Given the description of an element on the screen output the (x, y) to click on. 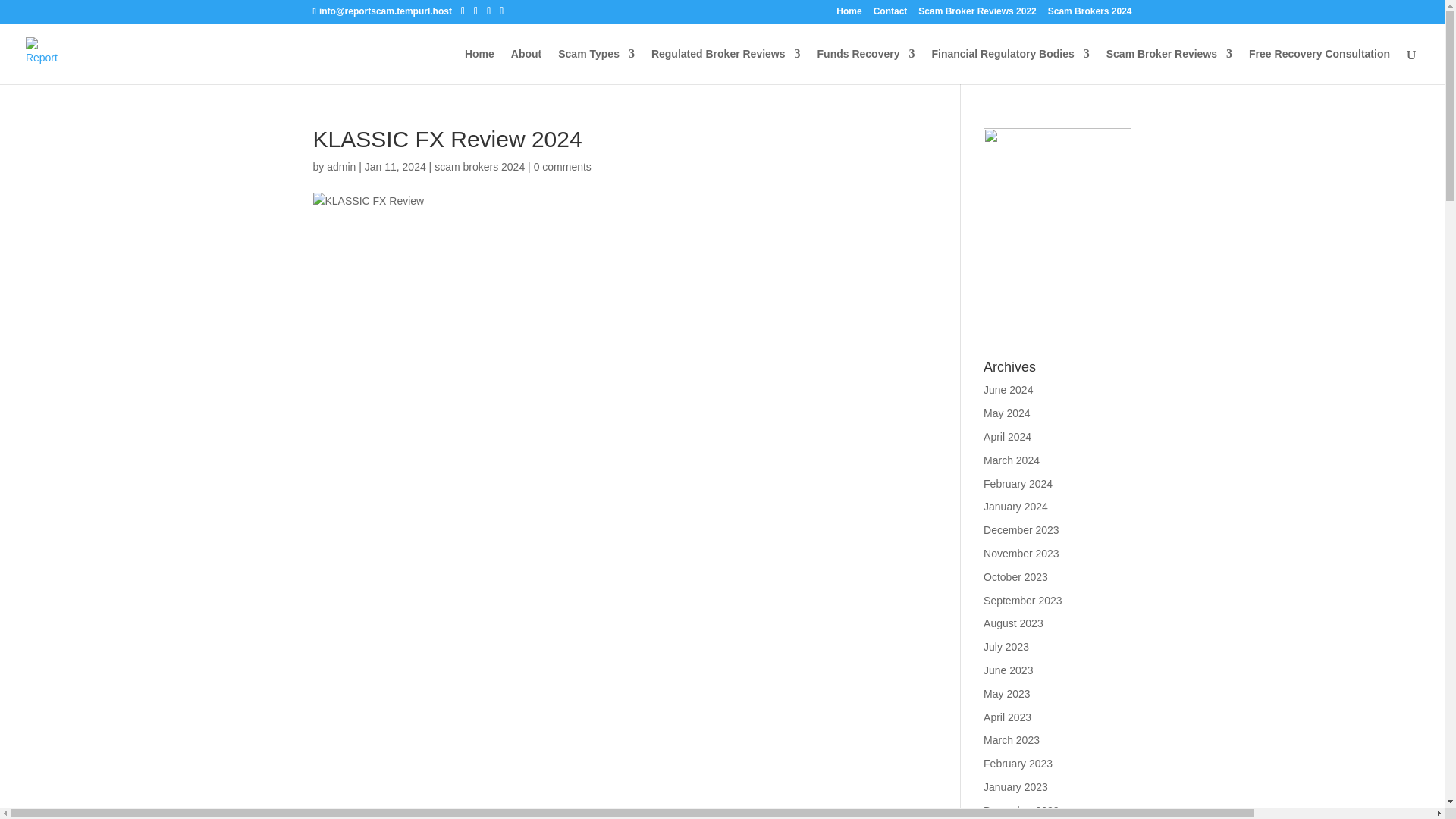
Scam Brokers 2024 (1090, 14)
Posts by admin (340, 166)
Scam Types (595, 66)
Contact (890, 14)
Home (848, 14)
Scam Broker Reviews 2022 (976, 14)
